Given the description of an element on the screen output the (x, y) to click on. 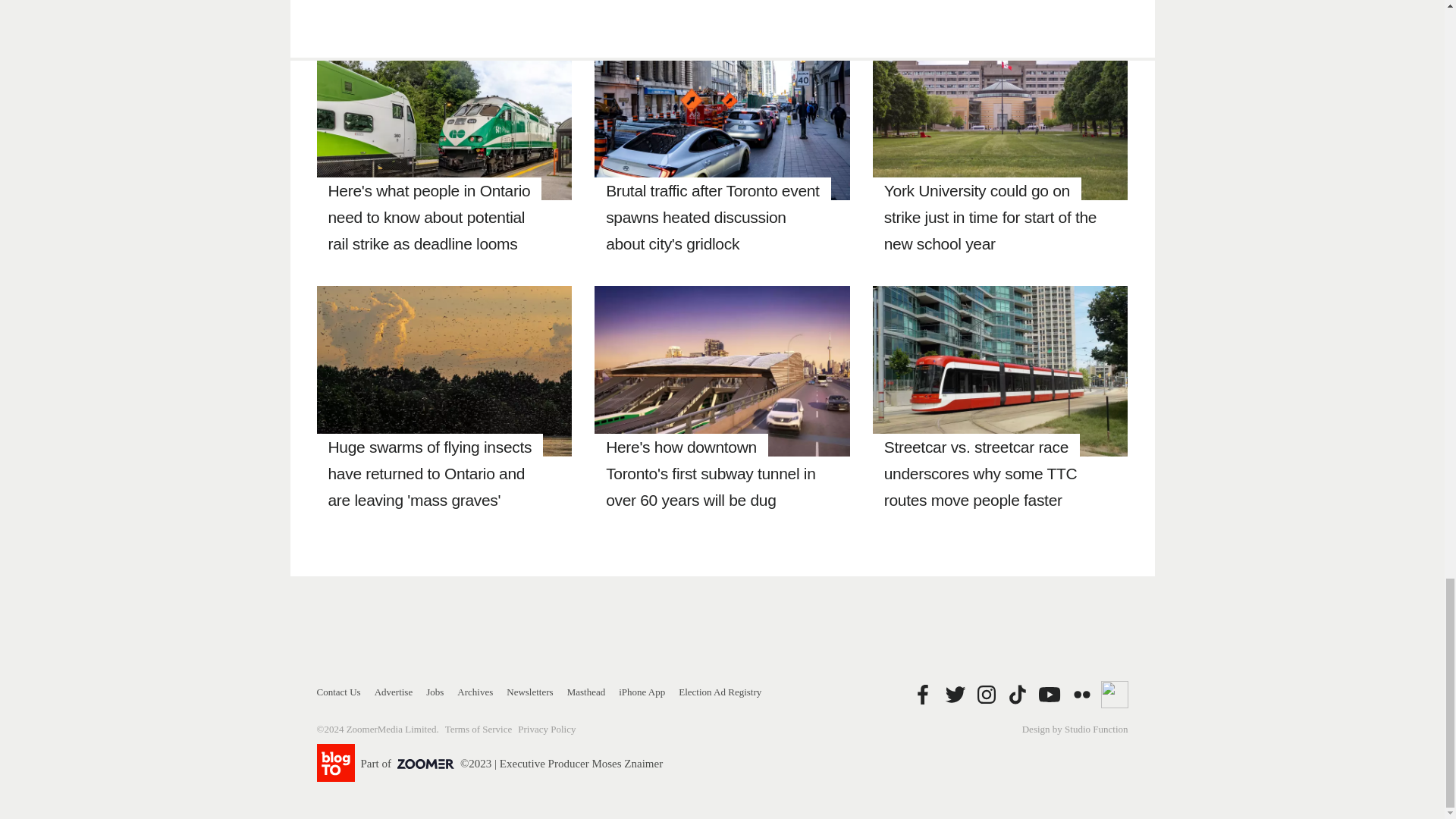
iPhone App (641, 691)
Masthead (586, 691)
Jobs (435, 691)
Newsletters (529, 691)
Contact Us (339, 691)
Archives (475, 691)
Advertise (393, 691)
Election Ad Registry (719, 691)
